Given the description of an element on the screen output the (x, y) to click on. 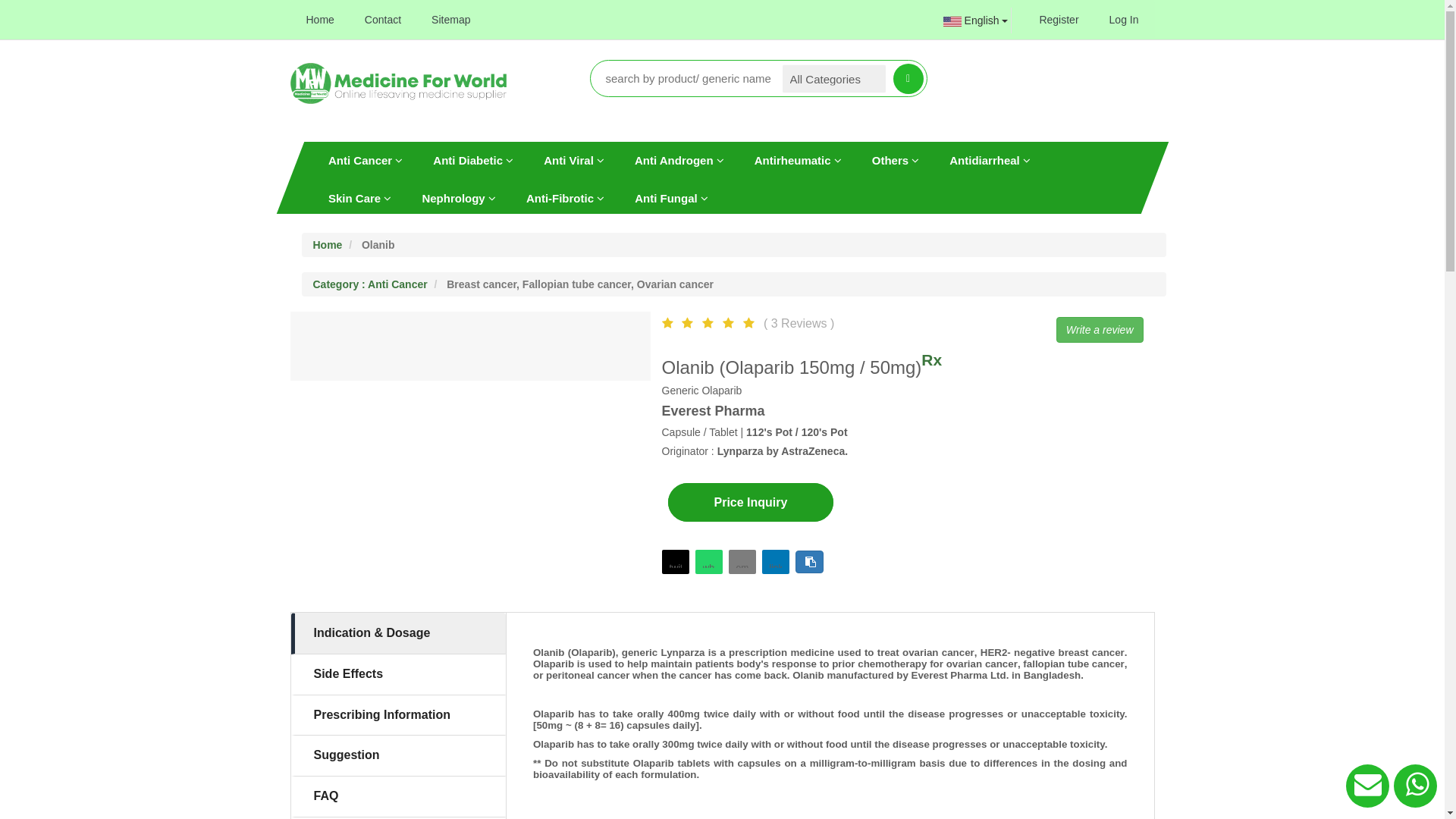
Prescribing Information Element type: text (398, 715)
FAQ Element type: text (398, 796)
Anti Viral Element type: text (573, 159)
Sitemap Element type: text (450, 19)
Suggestion Element type: text (398, 755)
Write a review Element type: text (1099, 329)
Olaparib Element type: text (553, 713)
Anti Androgen Element type: text (678, 159)
Olaparib Element type: text (553, 663)
Everest Pharma Ltd. in Element type: text (965, 674)
Others Element type: text (895, 159)
Lynparza Element type: text (683, 652)
breast cancer Element type: text (1090, 652)
Indication & Dosage Element type: text (398, 633)
Anti Fungal Element type: text (671, 197)
ovarian cancer Element type: text (980, 663)
ovarian cancer Element type: text (938, 652)
Olaparib Element type: text (553, 743)
Home Element type: text (327, 244)
Anti Diabetic Element type: text (472, 159)
Anti Cancer Element type: text (364, 159)
Anti-Fibrotic Element type: text (564, 197)
Home Element type: text (320, 19)
Olanib Element type: text (548, 652)
Register Element type: text (1058, 19)
Nephrology Element type: text (458, 197)
Price Inquiry Element type: text (750, 502)
Antirheumatic Element type: text (797, 159)
peritoneal cancer Element type: text (587, 674)
Antidiarrheal Element type: text (989, 159)
fallopian tube cancer Element type: text (1072, 663)
Olaparib Element type: text (591, 652)
Side Effects Element type: text (398, 674)
Log In Element type: text (1124, 19)
Skin Care Element type: text (358, 197)
Contact Element type: text (382, 19)
Olanib Element type: text (809, 674)
English Element type: text (966, 20)
